Given the description of an element on the screen output the (x, y) to click on. 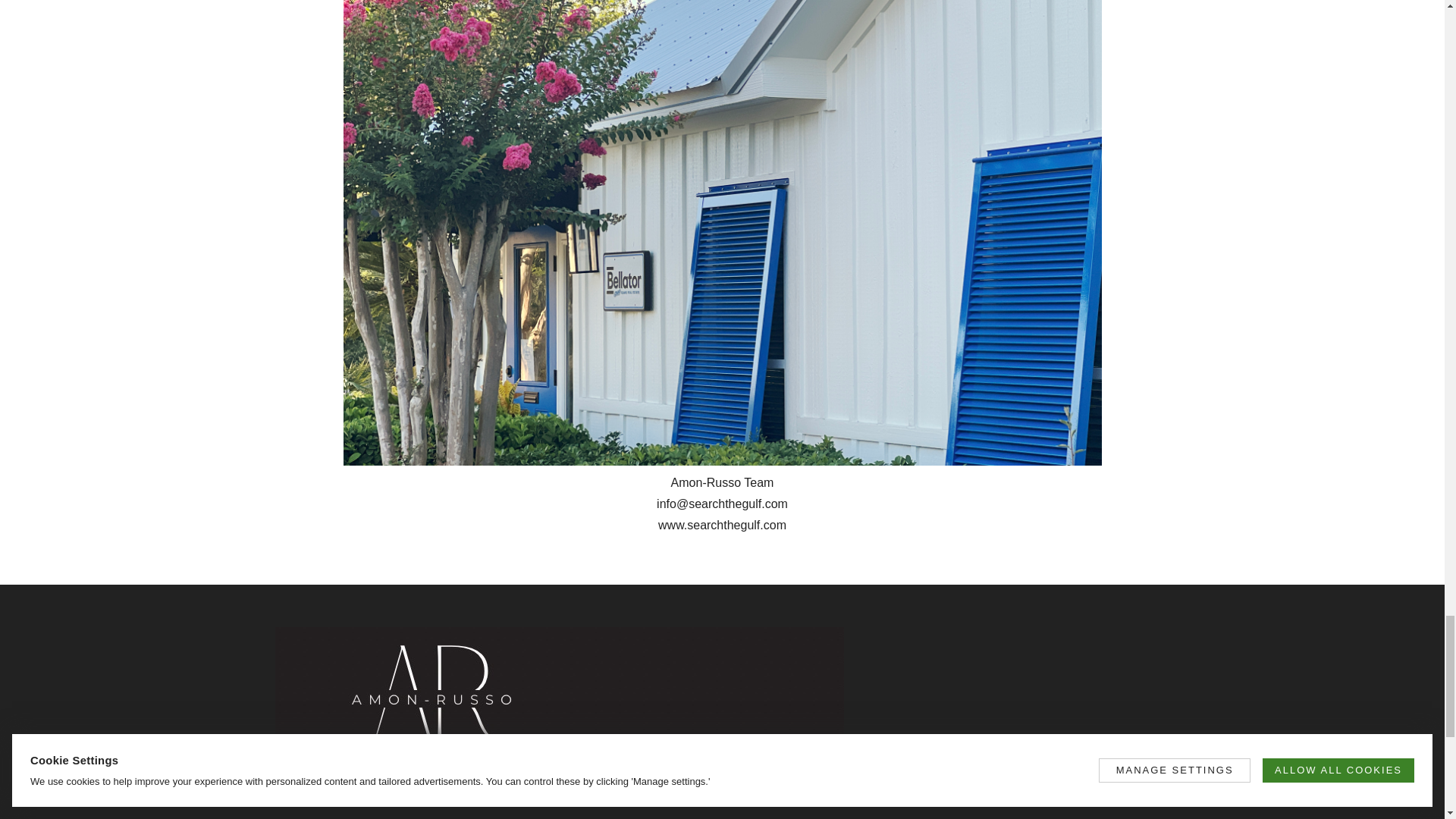
www.searchthegulf.com (722, 524)
